Given the description of an element on the screen output the (x, y) to click on. 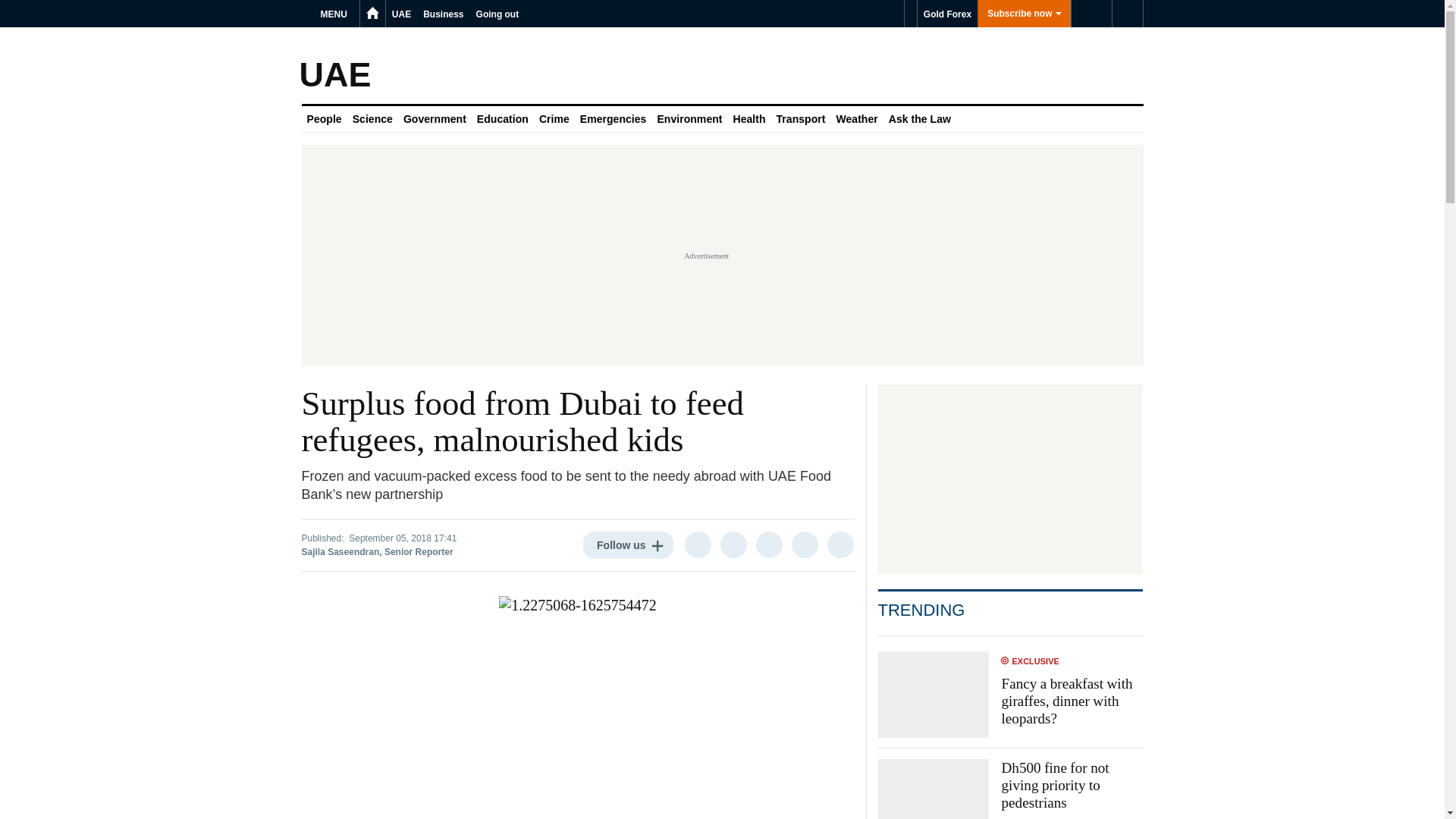
Gold Forex (946, 13)
Subscribe now (1024, 13)
Going out (497, 13)
UAE (400, 13)
MENU (336, 13)
Business (442, 13)
